Given the description of an element on the screen output the (x, y) to click on. 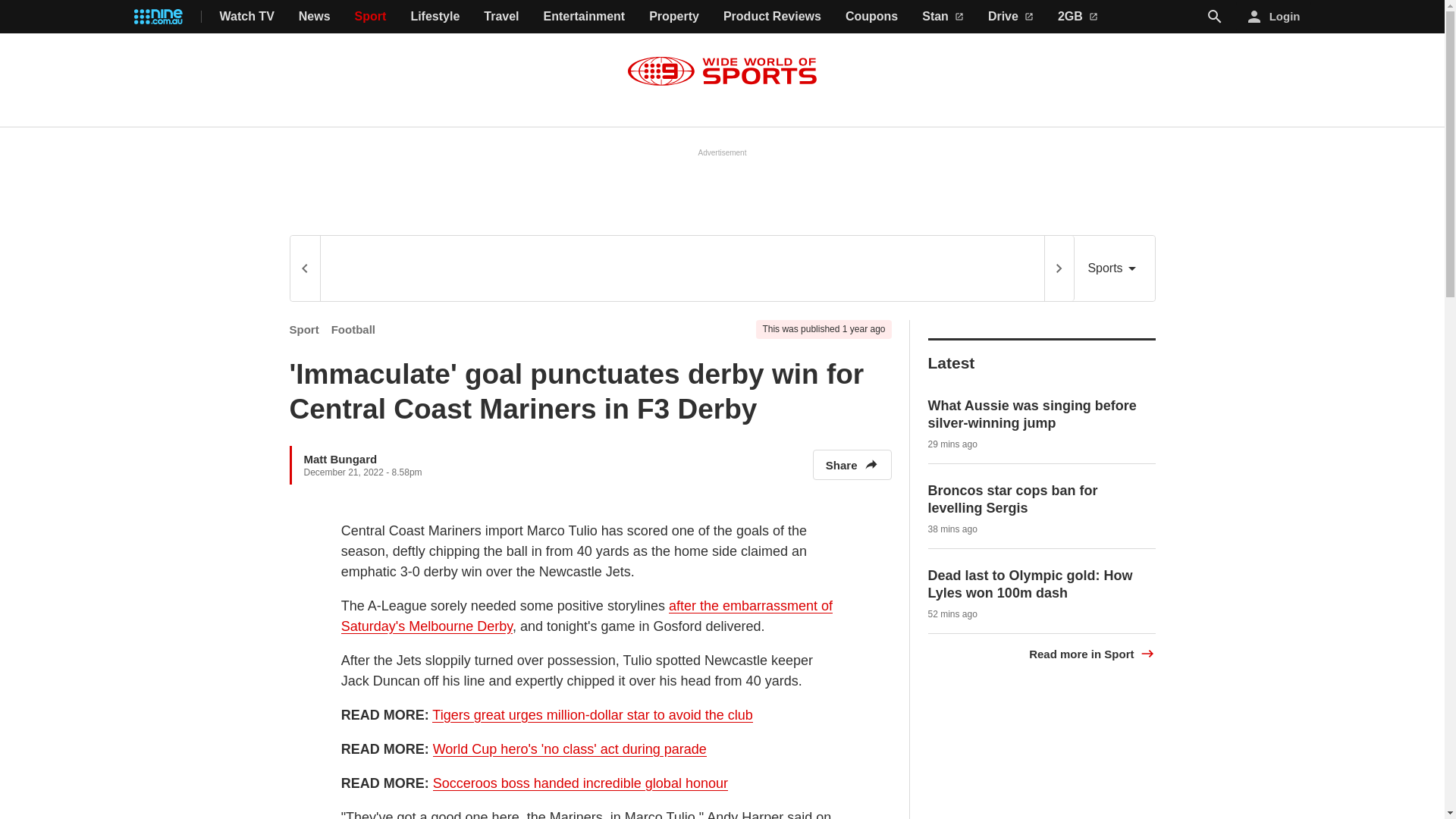
What Aussie was singing before silver-winning jump (1032, 414)
World Cup hero's 'no class' act during parade (569, 749)
Tigers great urges million-dollar star to avoid the club (592, 715)
Football (353, 328)
Broncos star cops ban for levelling Sergis (1012, 499)
Property (673, 16)
Coupons (871, 16)
2GB (1077, 16)
News (314, 16)
Search (1214, 16)
